Given the description of an element on the screen output the (x, y) to click on. 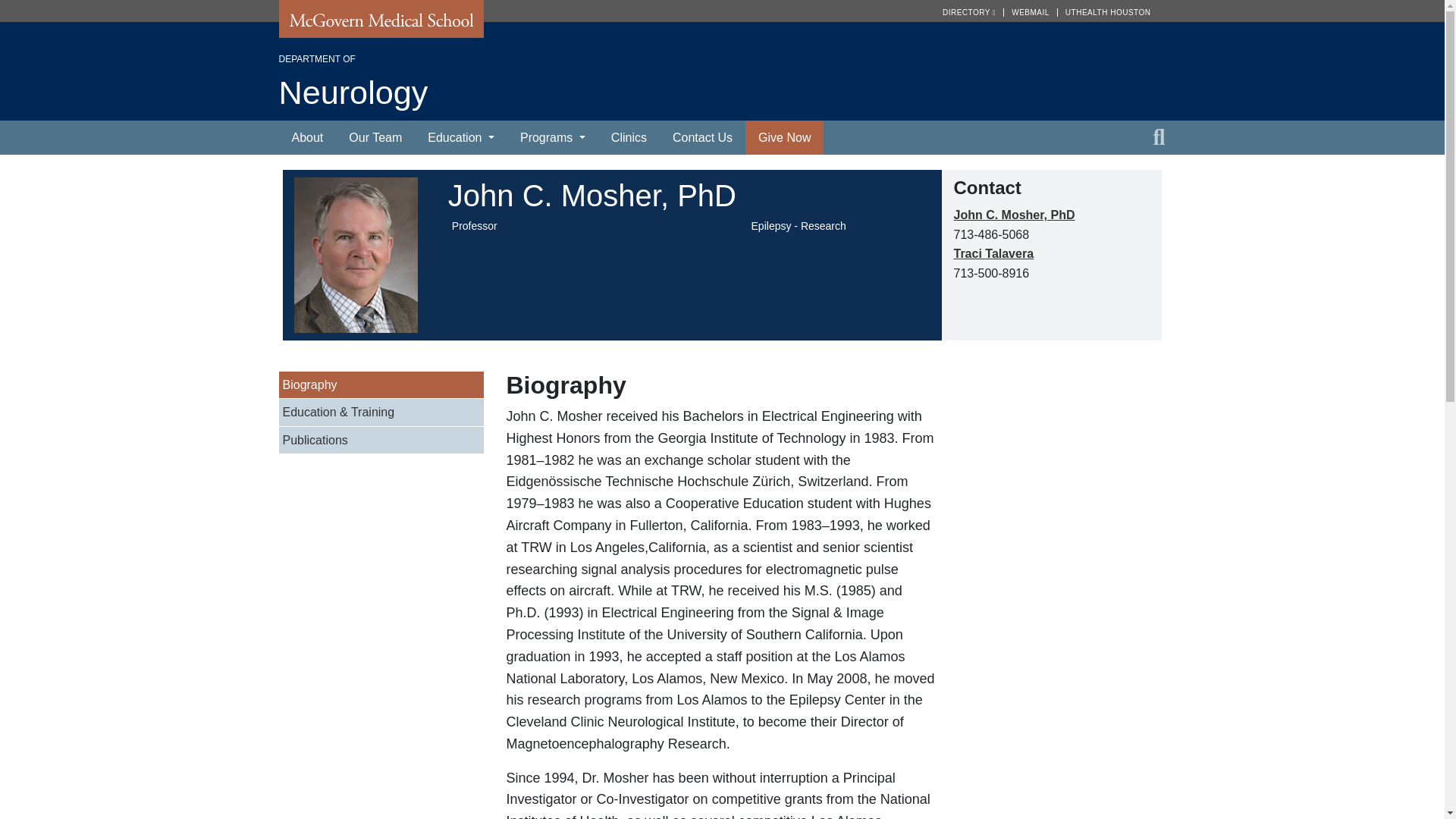
Programs (552, 137)
DIRECTORY (973, 12)
Access UTHealth internal webmail (1034, 12)
Give Now (784, 137)
Clinics (628, 137)
Visit the home page (722, 85)
Biography (381, 384)
Our Team (375, 137)
Visit the McGovern Medical School website (381, 23)
